Given the description of an element on the screen output the (x, y) to click on. 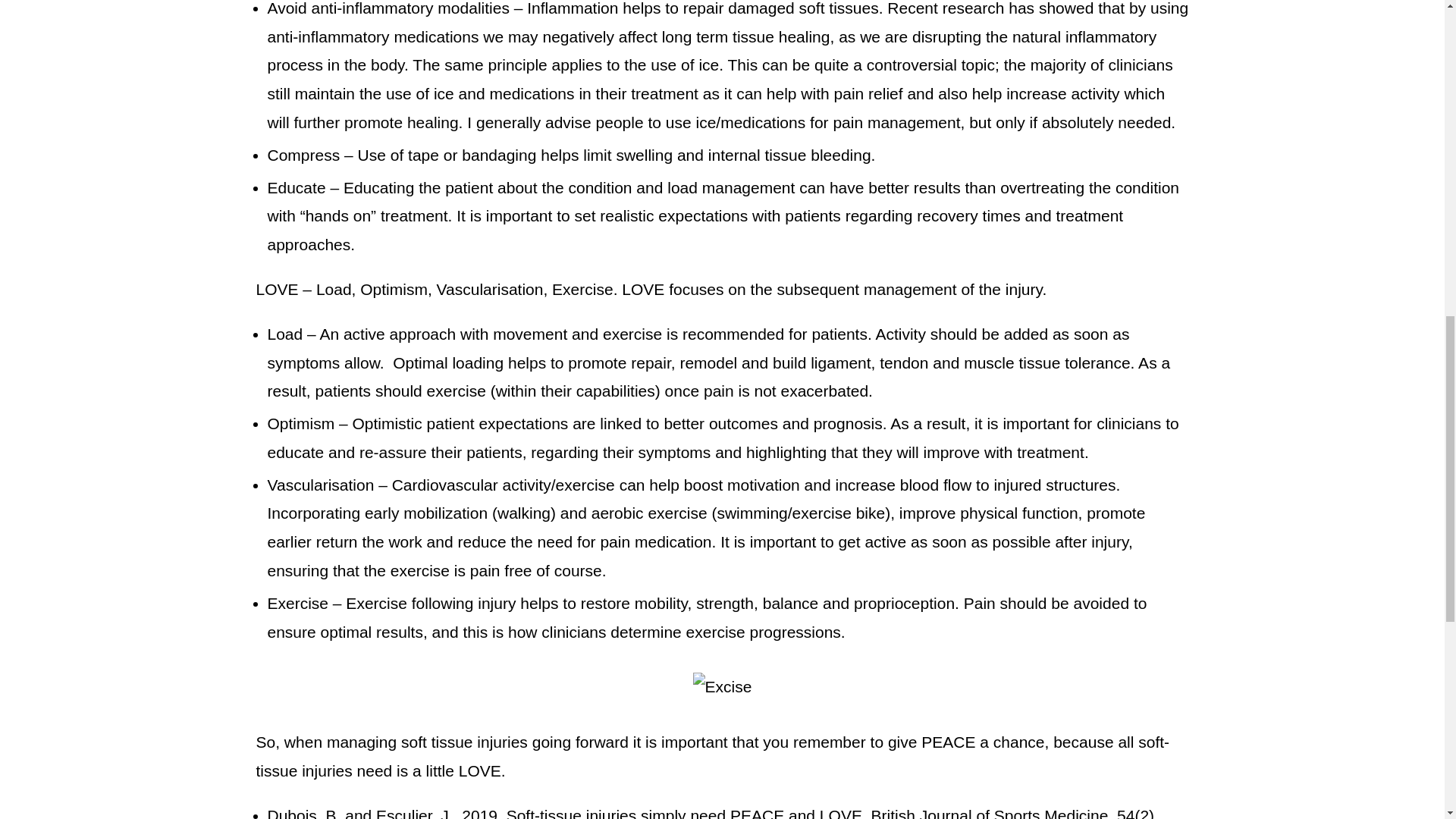
Excise (722, 686)
